Given the description of an element on the screen output the (x, y) to click on. 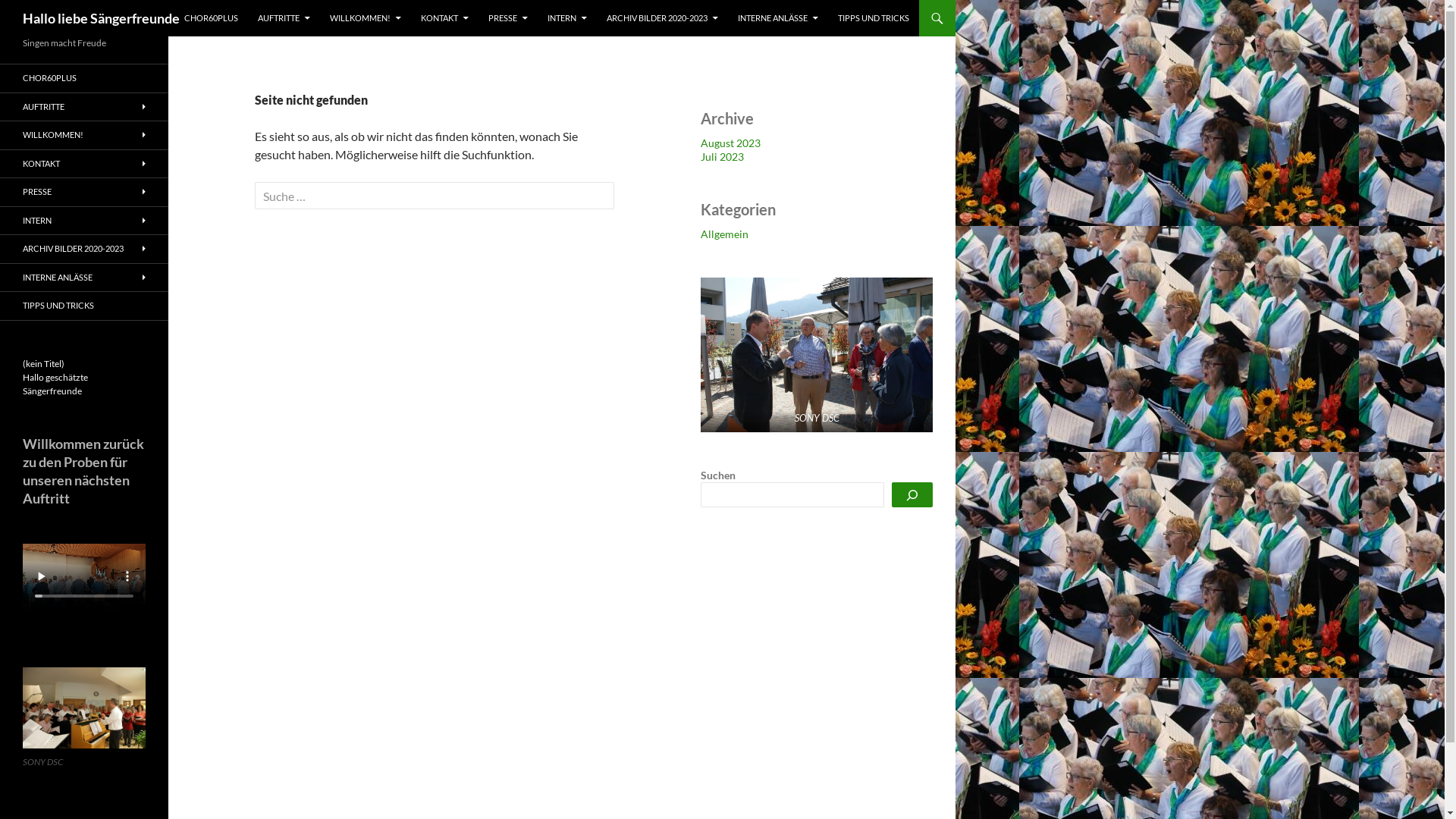
WILLKOMMEN! Element type: text (84, 135)
AUFTRITTE Element type: text (283, 18)
INTERN Element type: text (84, 220)
(kein Titel) Element type: text (43, 363)
INTERN Element type: text (567, 18)
WILLKOMMEN! Element type: text (365, 18)
KONTAKT Element type: text (444, 18)
Suche Element type: text (37, 13)
TIPPS UND TRICKS Element type: text (84, 305)
ARCHIV BILDER 2020-2023 Element type: text (662, 18)
AUFTRITTE Element type: text (84, 106)
Allgemein Element type: text (724, 233)
KONTAKT Element type: text (84, 164)
CHOR60PLUS Element type: text (211, 18)
CHOR60PLUS Element type: text (84, 78)
August 2023 Element type: text (730, 142)
Juli 2023 Element type: text (721, 156)
ARCHIV BILDER 2020-2023 Element type: text (84, 249)
TIPPS UND TRICKS Element type: text (873, 18)
PRESSE Element type: text (507, 18)
PRESSE Element type: text (84, 192)
